Given the description of an element on the screen output the (x, y) to click on. 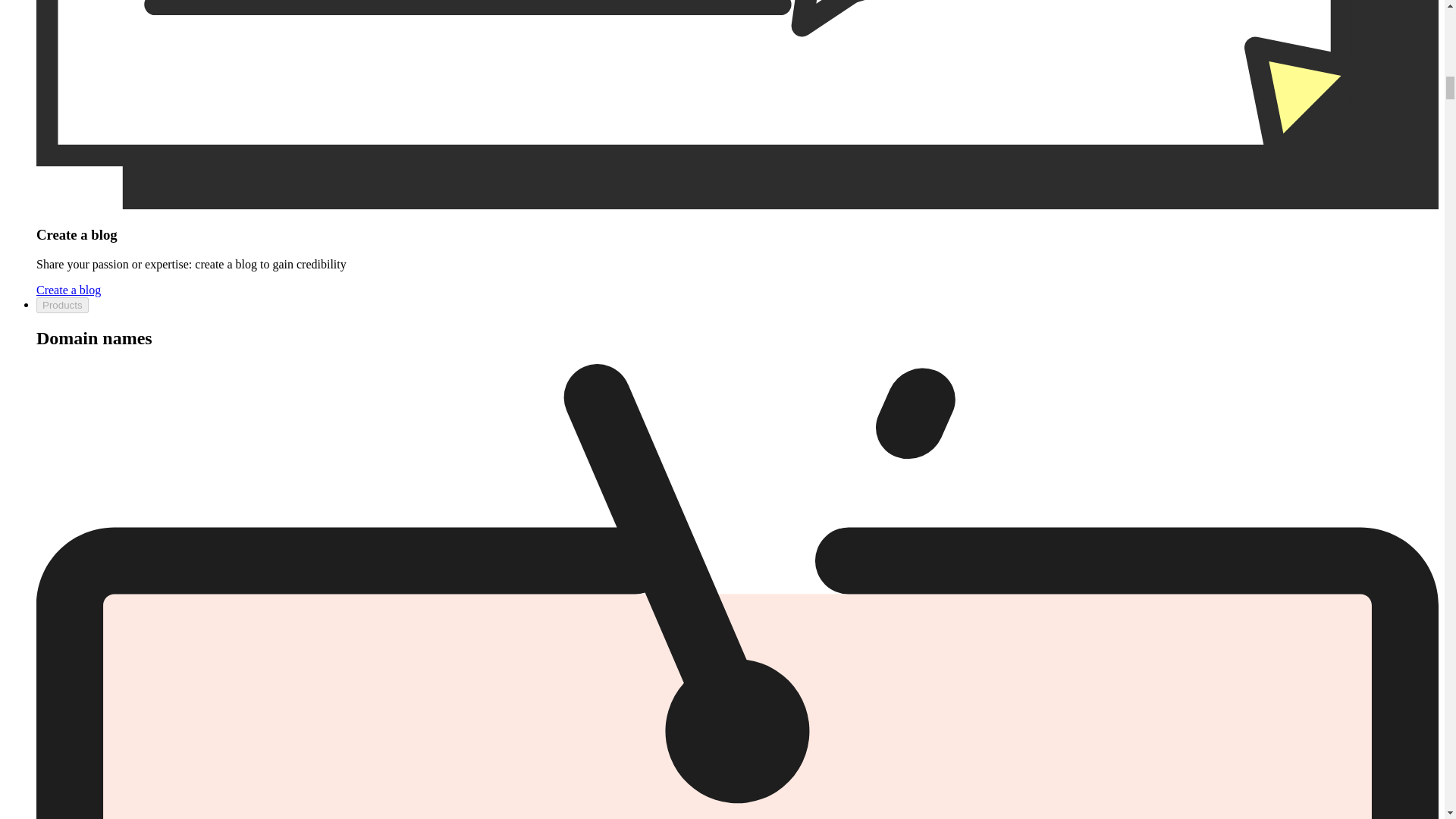
Create a blog (68, 289)
Products (62, 304)
